Given the description of an element on the screen output the (x, y) to click on. 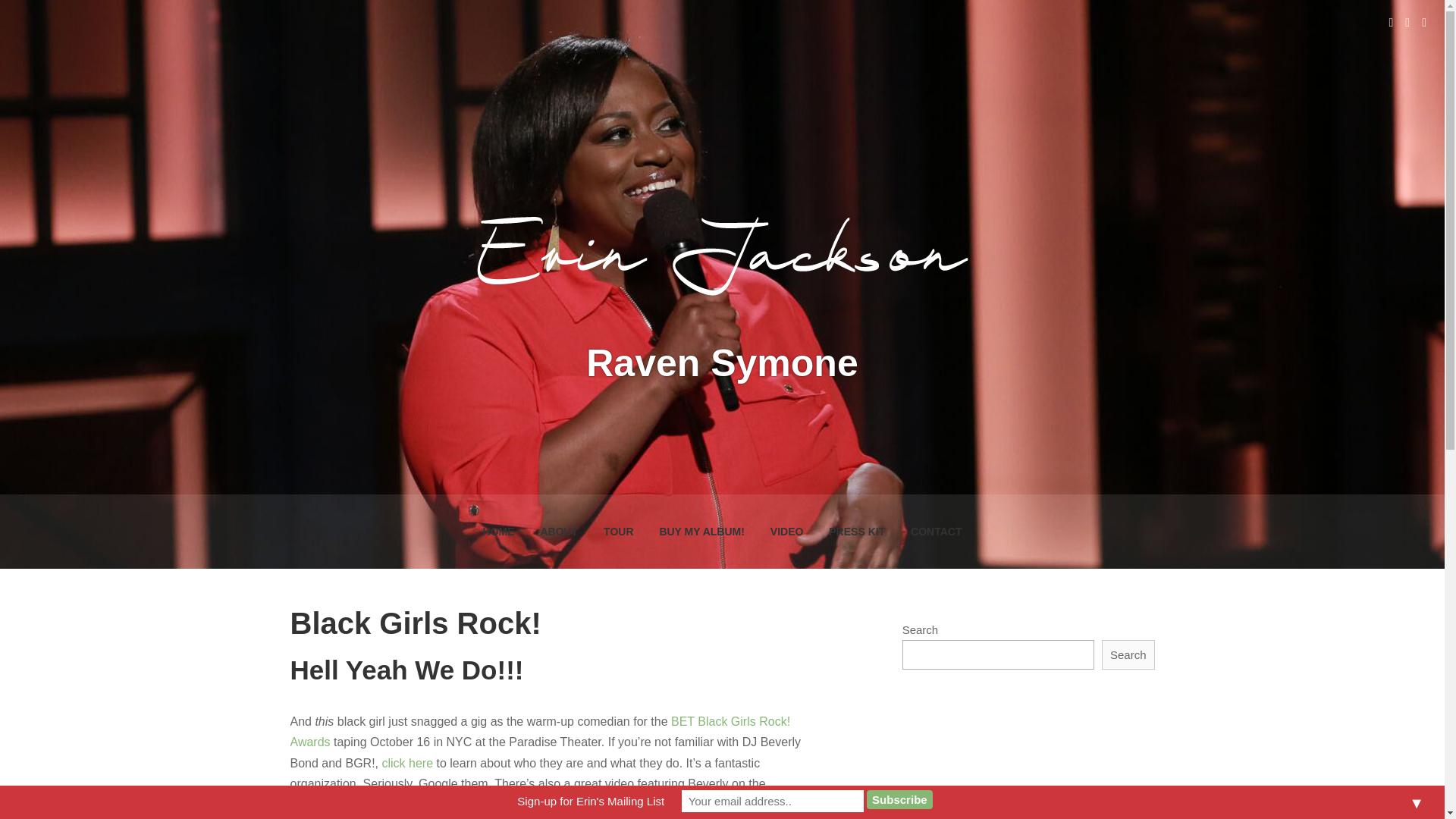
CONTACT (935, 531)
click here (408, 762)
BET Black Girls Rock! Awards (539, 731)
PRESS KIT (856, 531)
Subscribe (899, 799)
Black Girls Rock! (414, 622)
homepage of the BGR! website (373, 803)
Search (1128, 654)
BUY MY ALBUM! (701, 531)
